Given the description of an element on the screen output the (x, y) to click on. 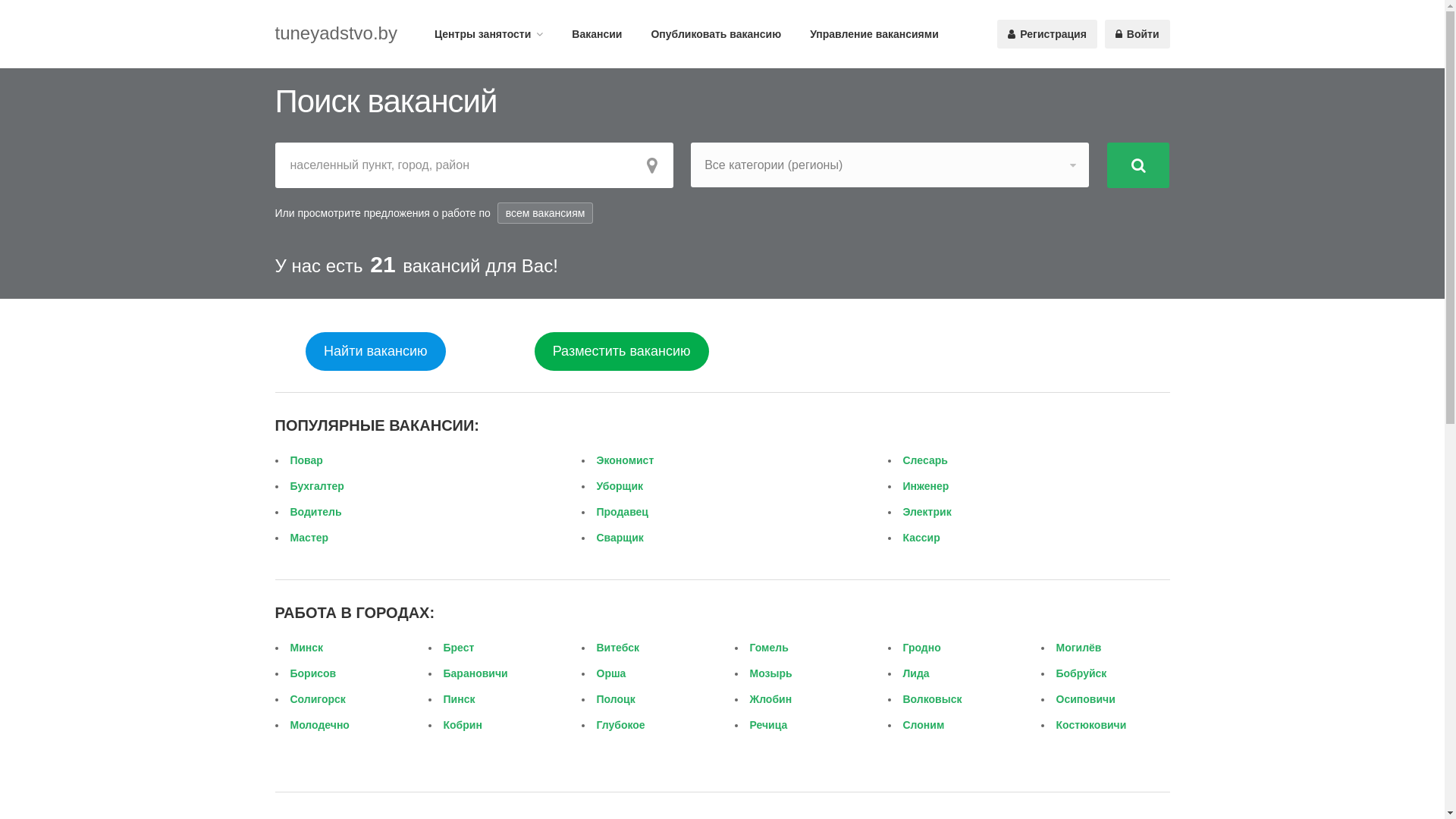
tuneyadstvo.by Element type: text (335, 32)
